Given the description of an element on the screen output the (x, y) to click on. 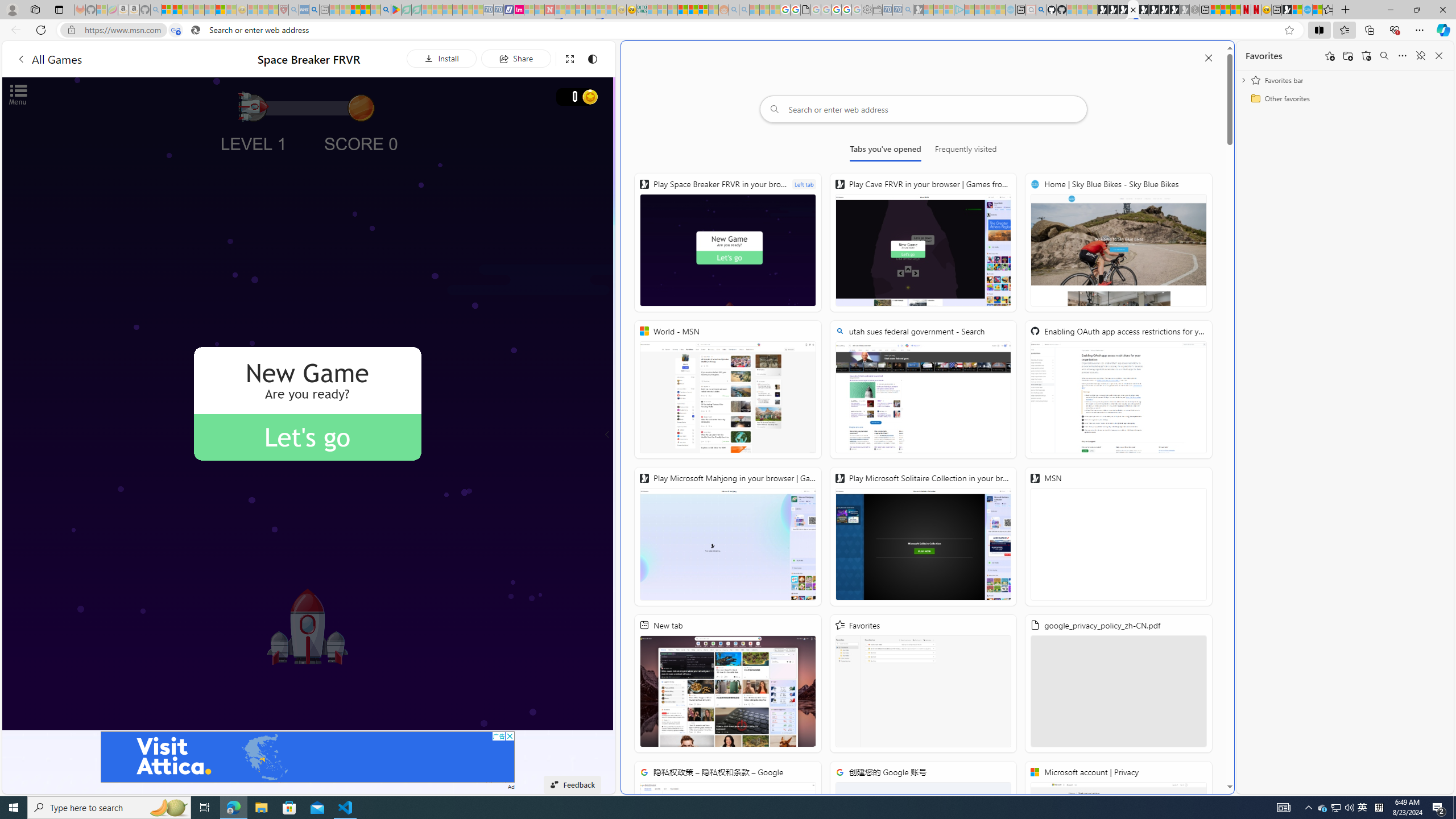
google_privacy_policy_zh-CN.pdf (1118, 683)
Kinda Frugal - MSN (692, 9)
Local - MSN - Sleeping (273, 9)
Advertisement (307, 756)
